Given the description of an element on the screen output the (x, y) to click on. 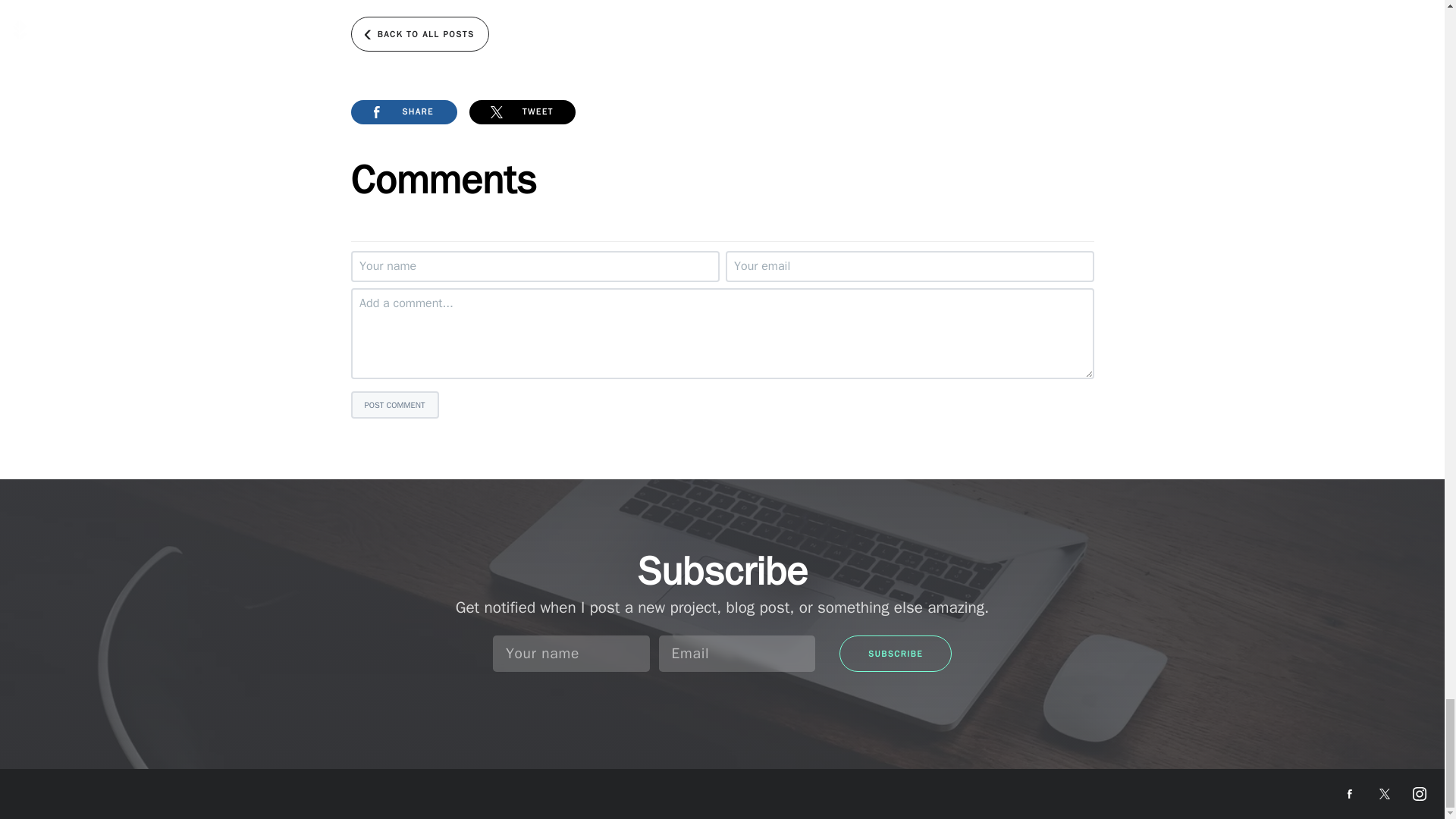
TWEET (521, 111)
BACK TO ALL POSTS (418, 33)
Subscribe (896, 653)
Facebook (1349, 793)
SHARE (403, 111)
Instagram (1419, 793)
Subscribe (896, 653)
POST COMMENT (394, 405)
Twitter (1384, 793)
Seth Burnett (68, 790)
